Given the description of an element on the screen output the (x, y) to click on. 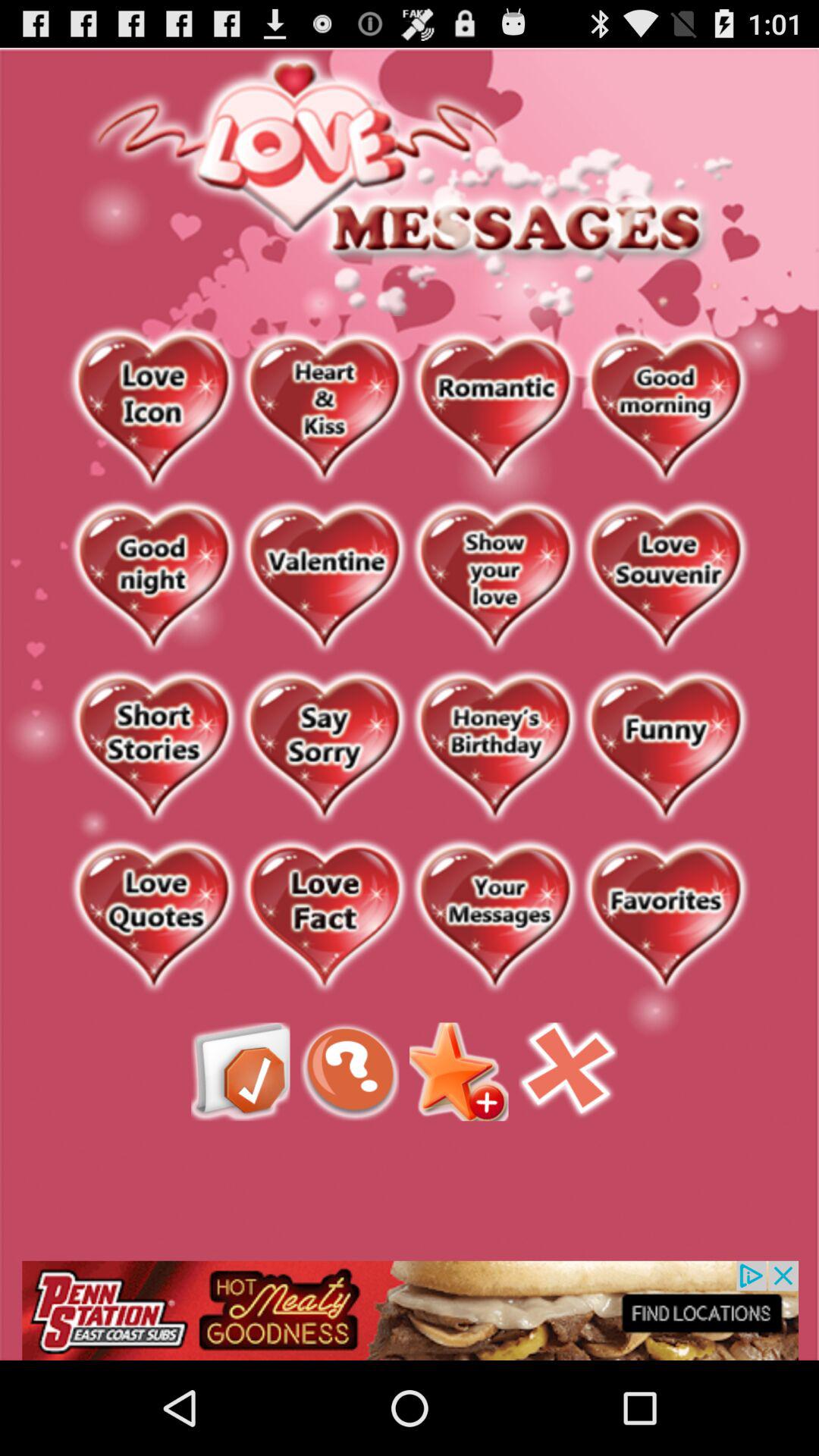
select show your love message (494, 578)
